Given the description of an element on the screen output the (x, y) to click on. 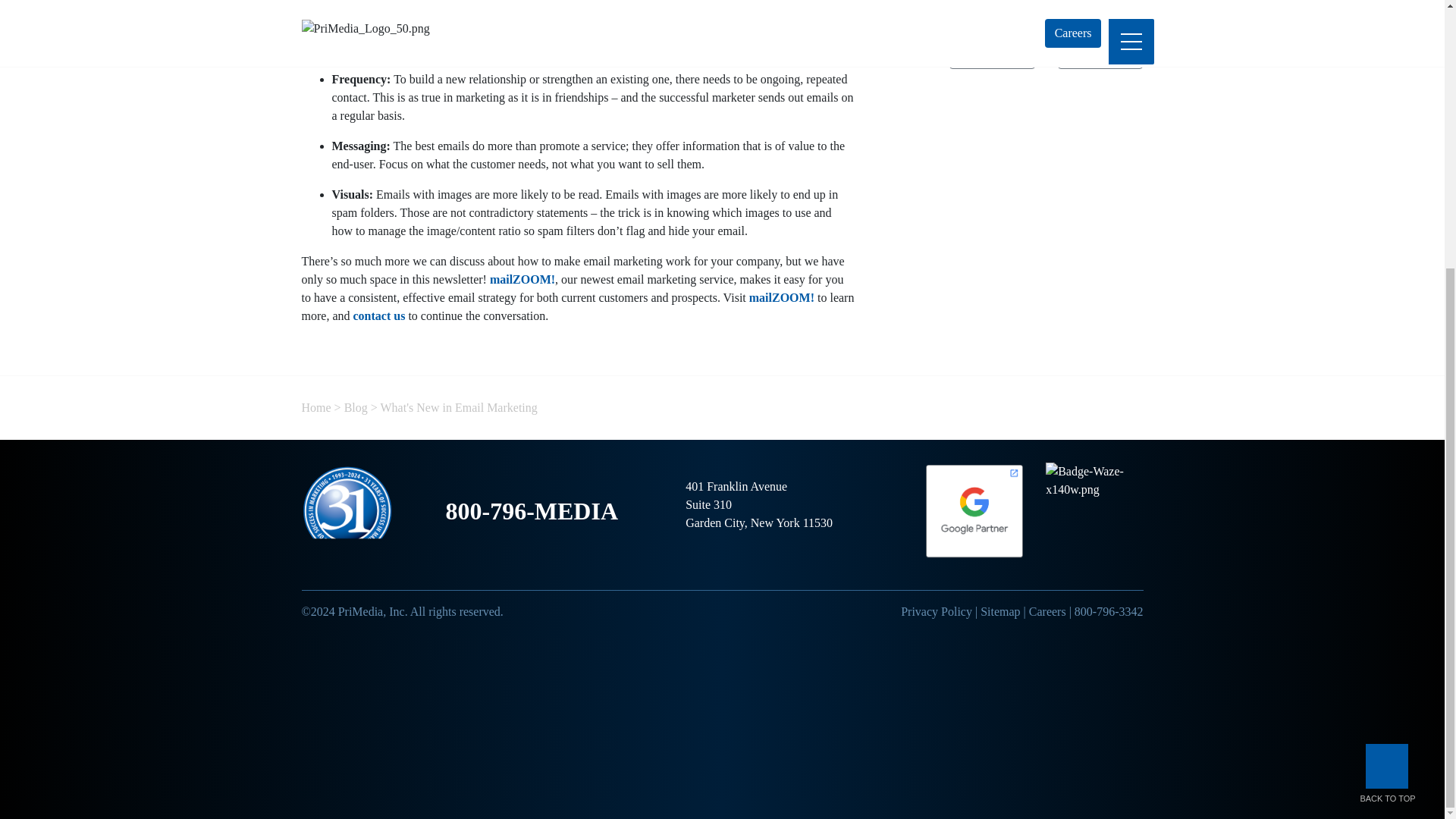
800-796-MEDIA (531, 510)
Home (316, 407)
mailZOOM! (781, 297)
Privacy Policy (936, 611)
Blog (355, 407)
Careers (1047, 611)
Sitemap (999, 611)
mailZOOM! (521, 278)
28 Years in Business (347, 510)
contact us (378, 315)
